Given the description of an element on the screen output the (x, y) to click on. 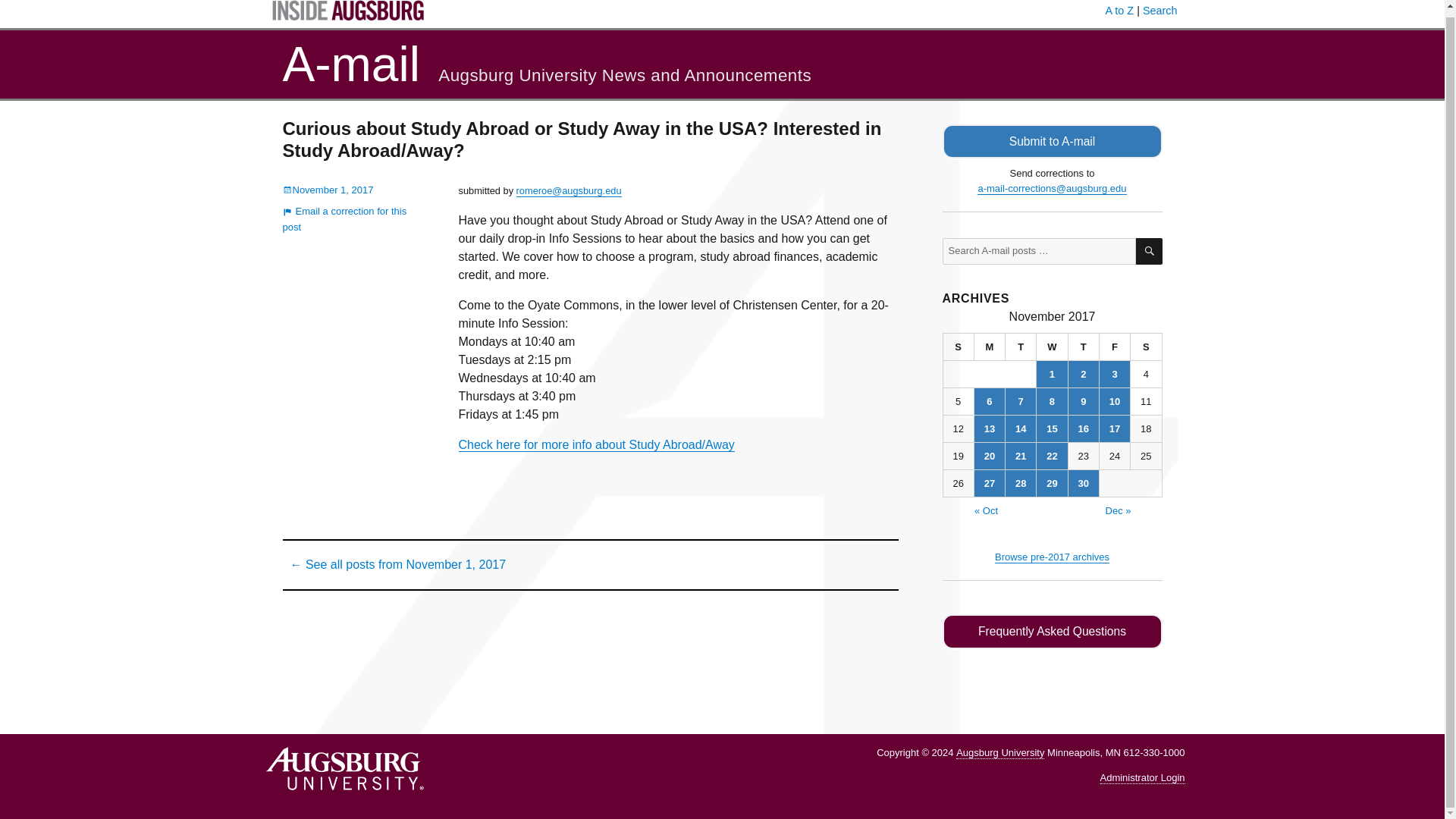
Monday (990, 347)
27 (989, 483)
22 (1051, 456)
21 (1020, 456)
16 (1083, 428)
SEARCH (1148, 251)
20 (989, 456)
A to Z (1119, 10)
Augsburg University (999, 752)
Search (1159, 10)
29 (1051, 483)
14 (1020, 428)
8 (1051, 401)
November 1, 2017 (327, 189)
Frequently Asked Questions (1051, 631)
